Given the description of an element on the screen output the (x, y) to click on. 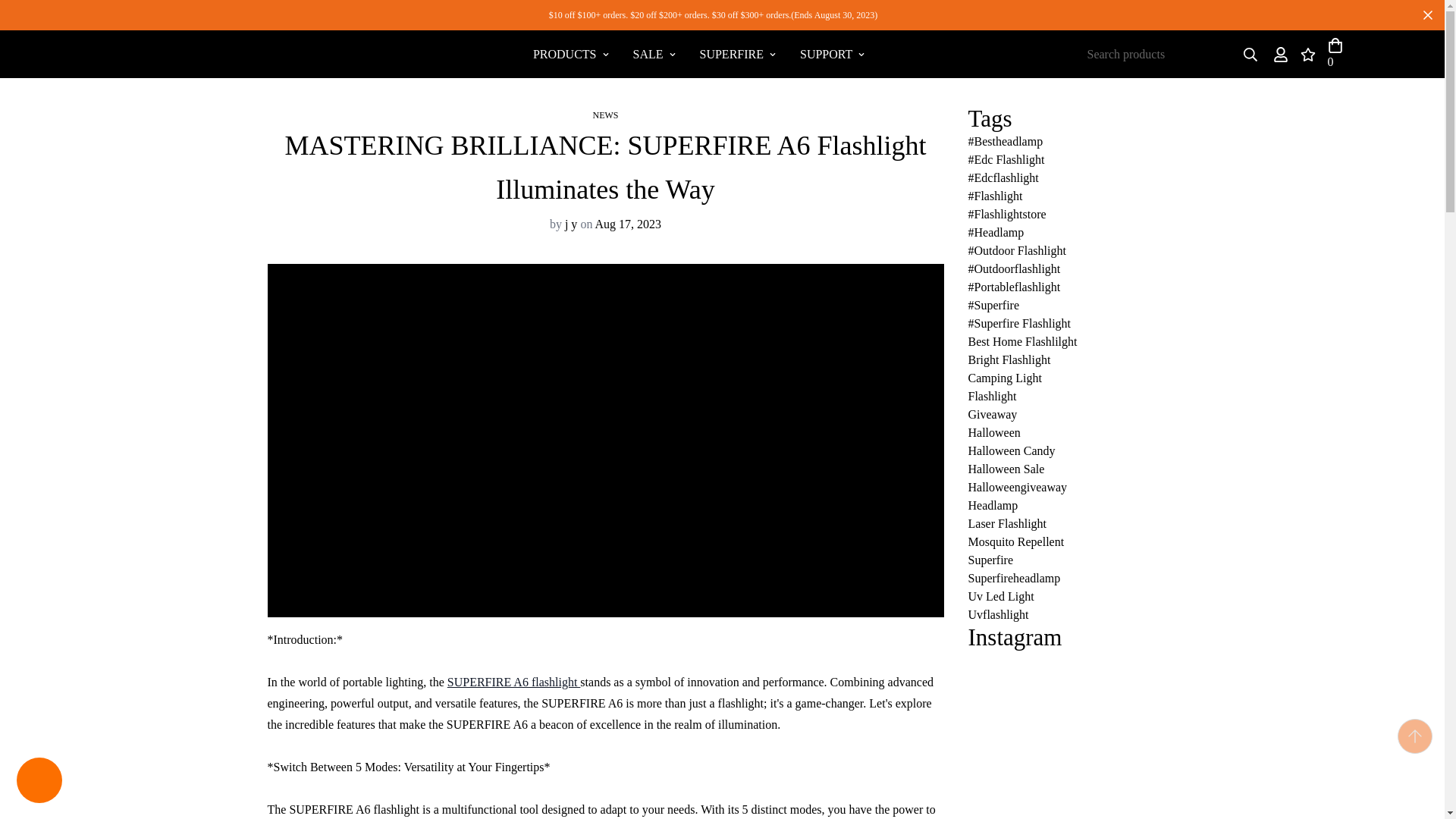
Show articles tagged best home flashlilght (698, 53)
Show articles tagged giveaway (1022, 341)
SUPPORT (992, 413)
Show articles tagged camping light (831, 53)
SALE (1004, 377)
PRODUCTS (654, 53)
Show articles tagged halloween candy (571, 53)
Show articles tagged bright flashlight (1011, 450)
Back to the home page (1008, 359)
